Given the description of an element on the screen output the (x, y) to click on. 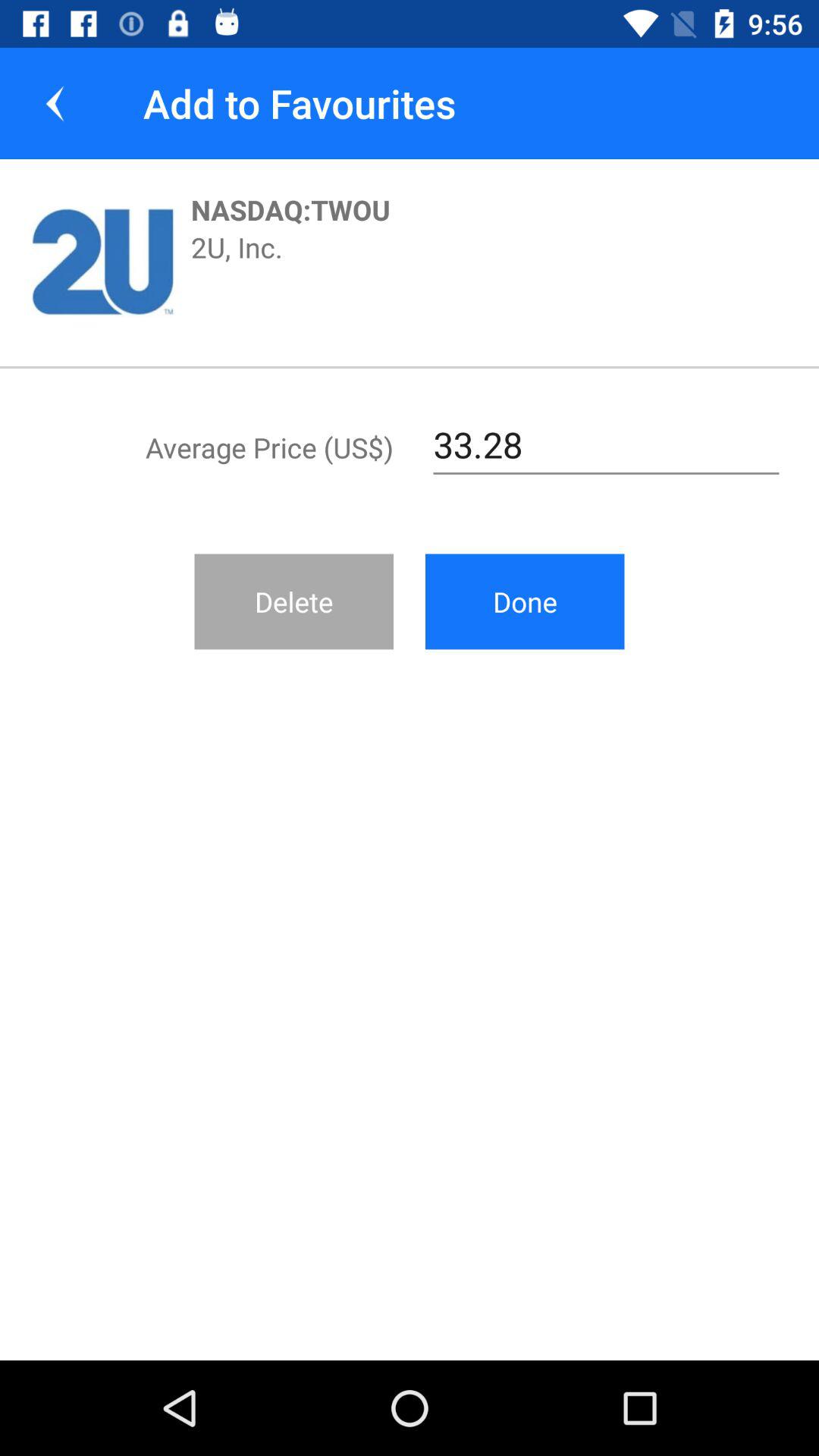
open the icon to the right of the average price (us$) item (606, 445)
